Given the description of an element on the screen output the (x, y) to click on. 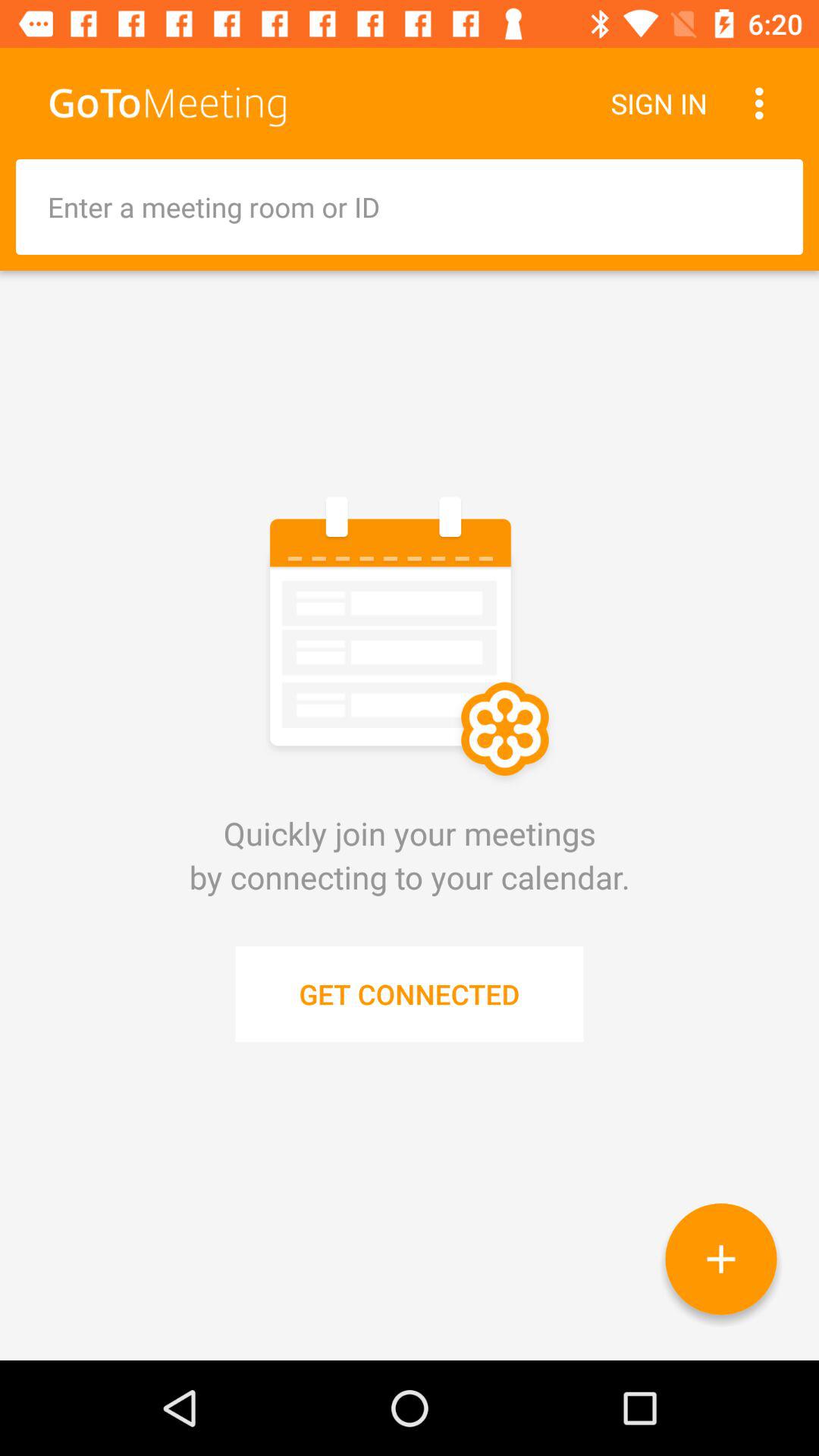
choose icon below quickly join your icon (409, 993)
